Given the description of an element on the screen output the (x, y) to click on. 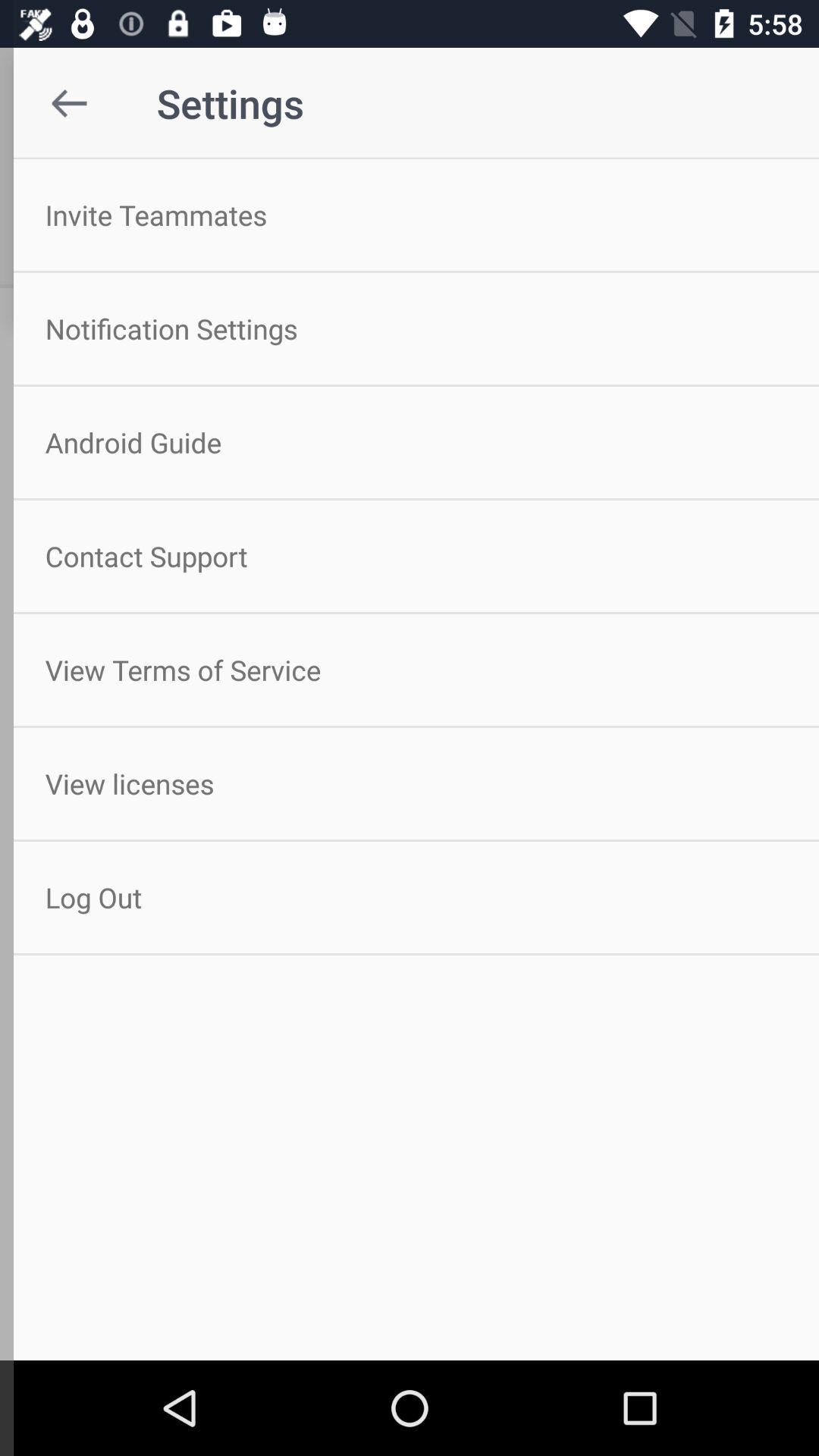
select the contact support icon (409, 555)
